Given the description of an element on the screen output the (x, y) to click on. 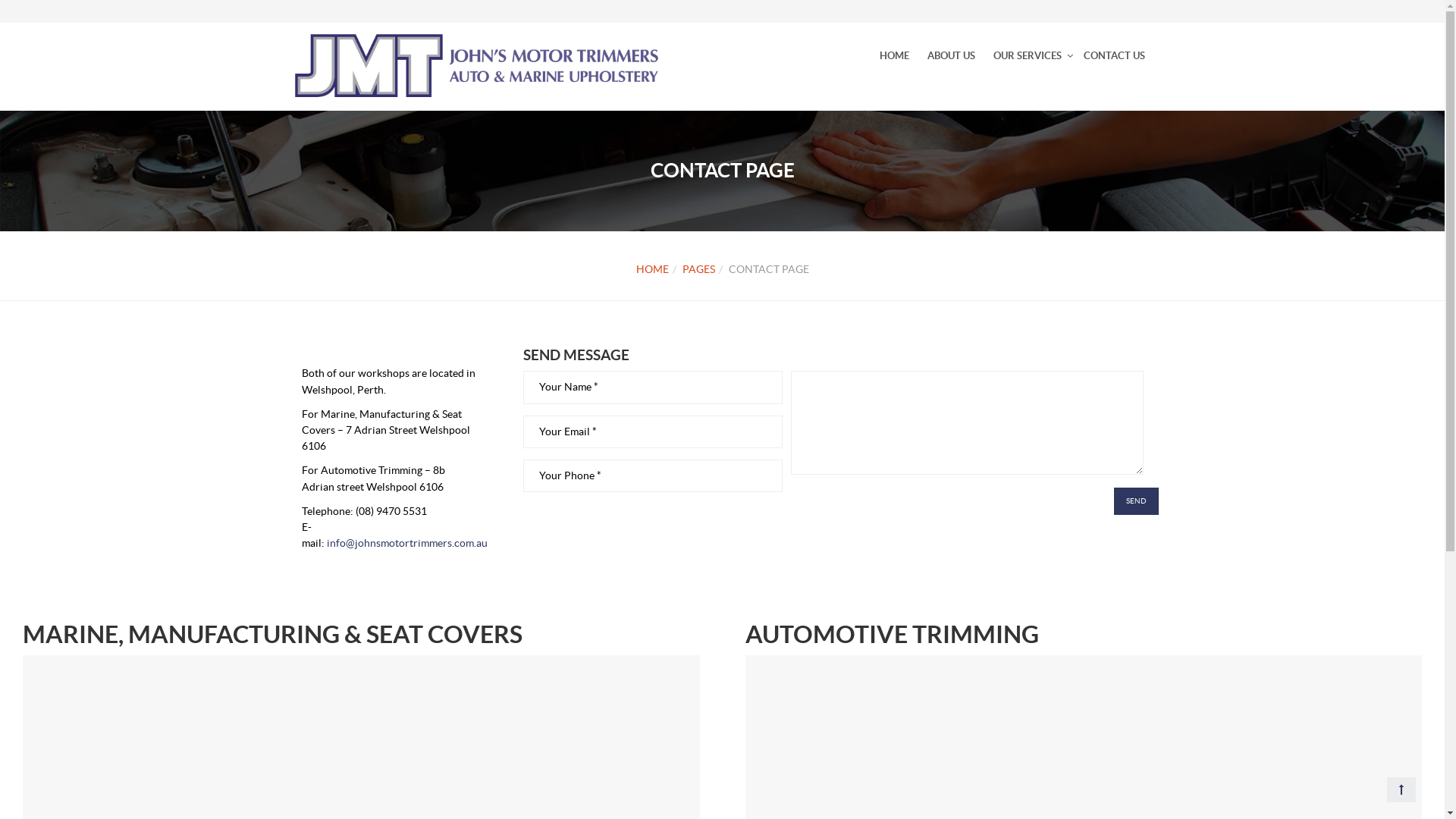
CONTACT US Element type: text (1113, 55)
ABOUT US Element type: text (950, 55)
HOME Element type: text (894, 55)
PAGES Element type: text (698, 269)
OUR SERVICES Element type: text (1027, 55)
HOME Element type: text (651, 269)
info@johnsmotortrimmers.com.au Element type: text (406, 542)
Send Element type: text (1135, 500)
